Given the description of an element on the screen output the (x, y) to click on. 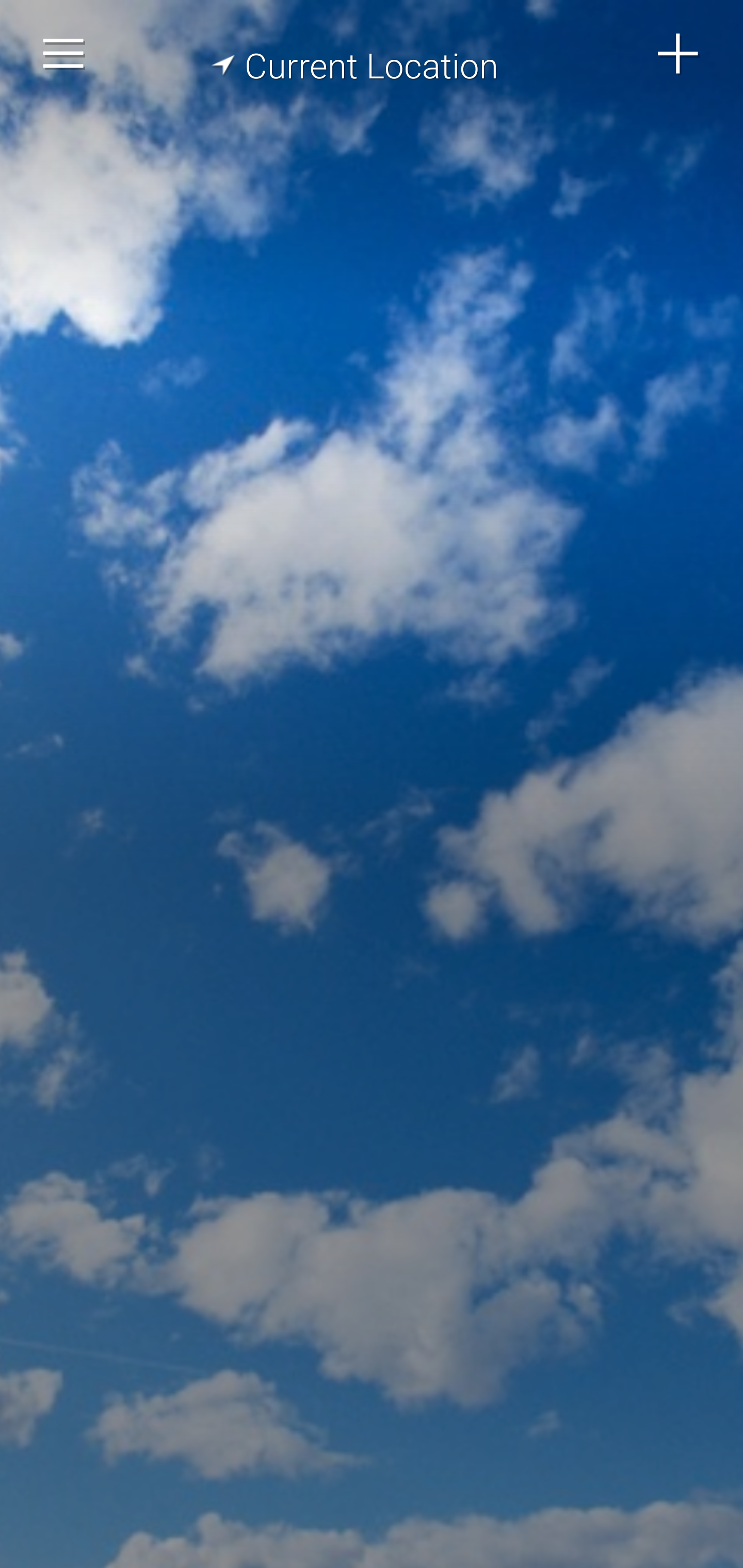
Sidebar (64, 54)
Add City (678, 53)
